Given the description of an element on the screen output the (x, y) to click on. 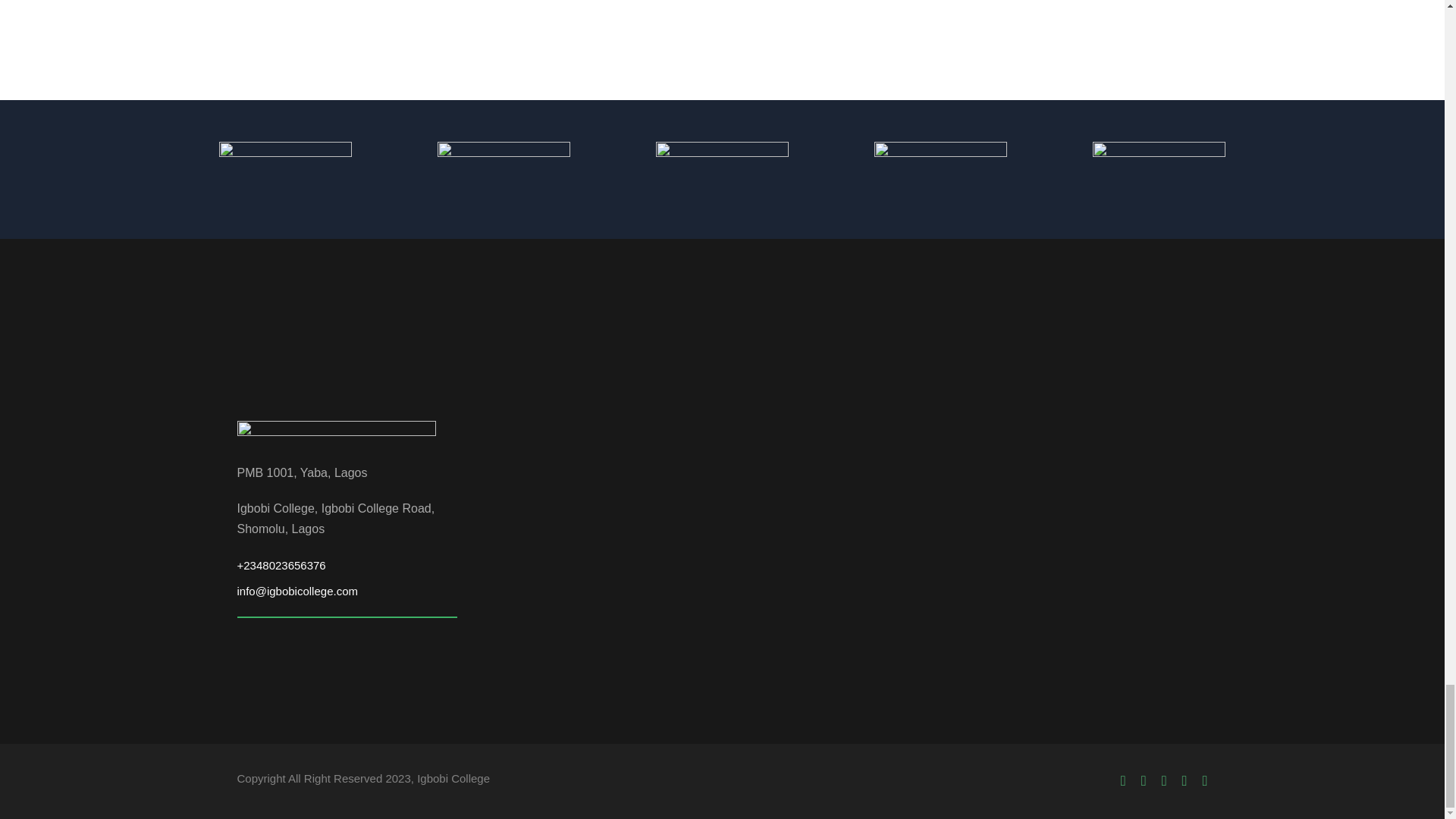
methodst (504, 167)
slider3 (722, 167)
slider4 (941, 167)
slider1 (285, 167)
